Given the description of an element on the screen output the (x, y) to click on. 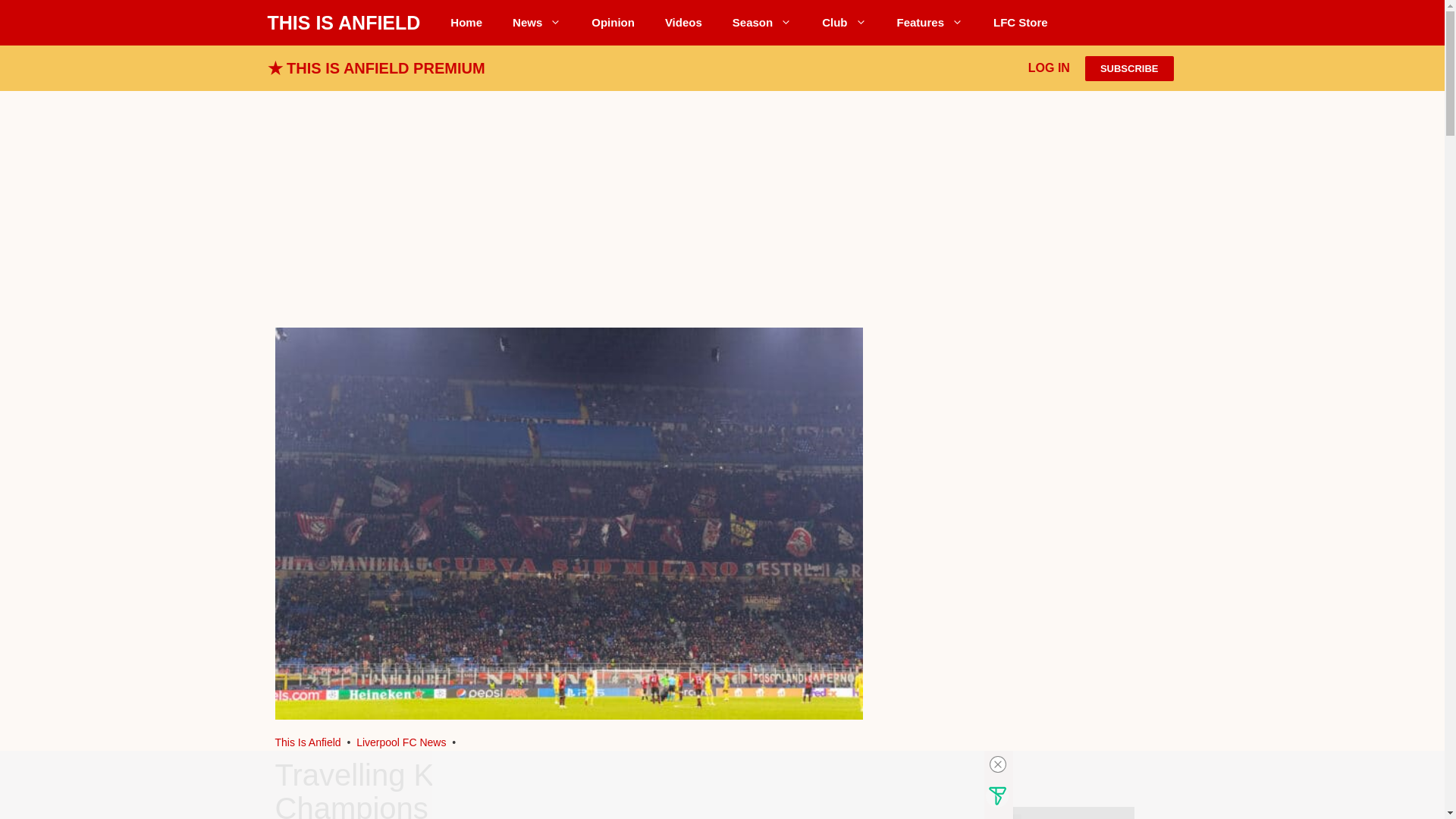
Liverpool FC (307, 742)
3rd party ad content (721, 201)
Season (761, 22)
News (536, 22)
THIS IS ANFIELD (343, 22)
Features (929, 22)
Liverpool FC Features (929, 22)
Liverpool FC News (536, 22)
Liverpool FC Videos (683, 22)
Opinion (612, 22)
Club (843, 22)
Home (466, 22)
Go to the Liverpool FC News category archives. (400, 742)
Liverpool FC Opinion (612, 22)
Videos (683, 22)
